Given the description of an element on the screen output the (x, y) to click on. 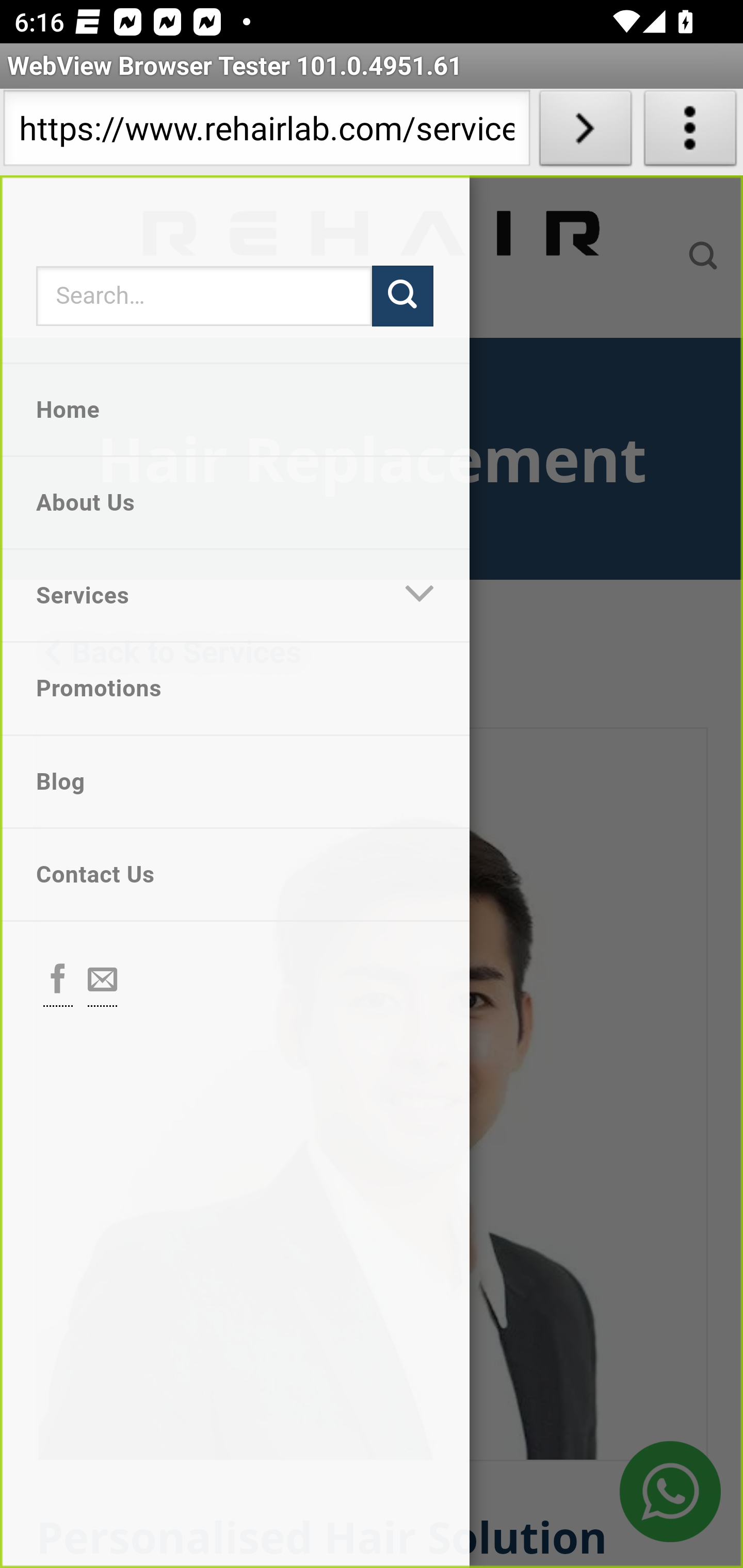
Load URL (585, 132)
About WebView (690, 132)
Submit (402, 295)
Home (234, 409)
About Us (234, 502)
Services (190, 595)
 (420, 595)
Promotions (234, 688)
Blog (234, 782)
Contact Us (234, 874)
 (58, 981)
 (102, 981)
